Given the description of an element on the screen output the (x, y) to click on. 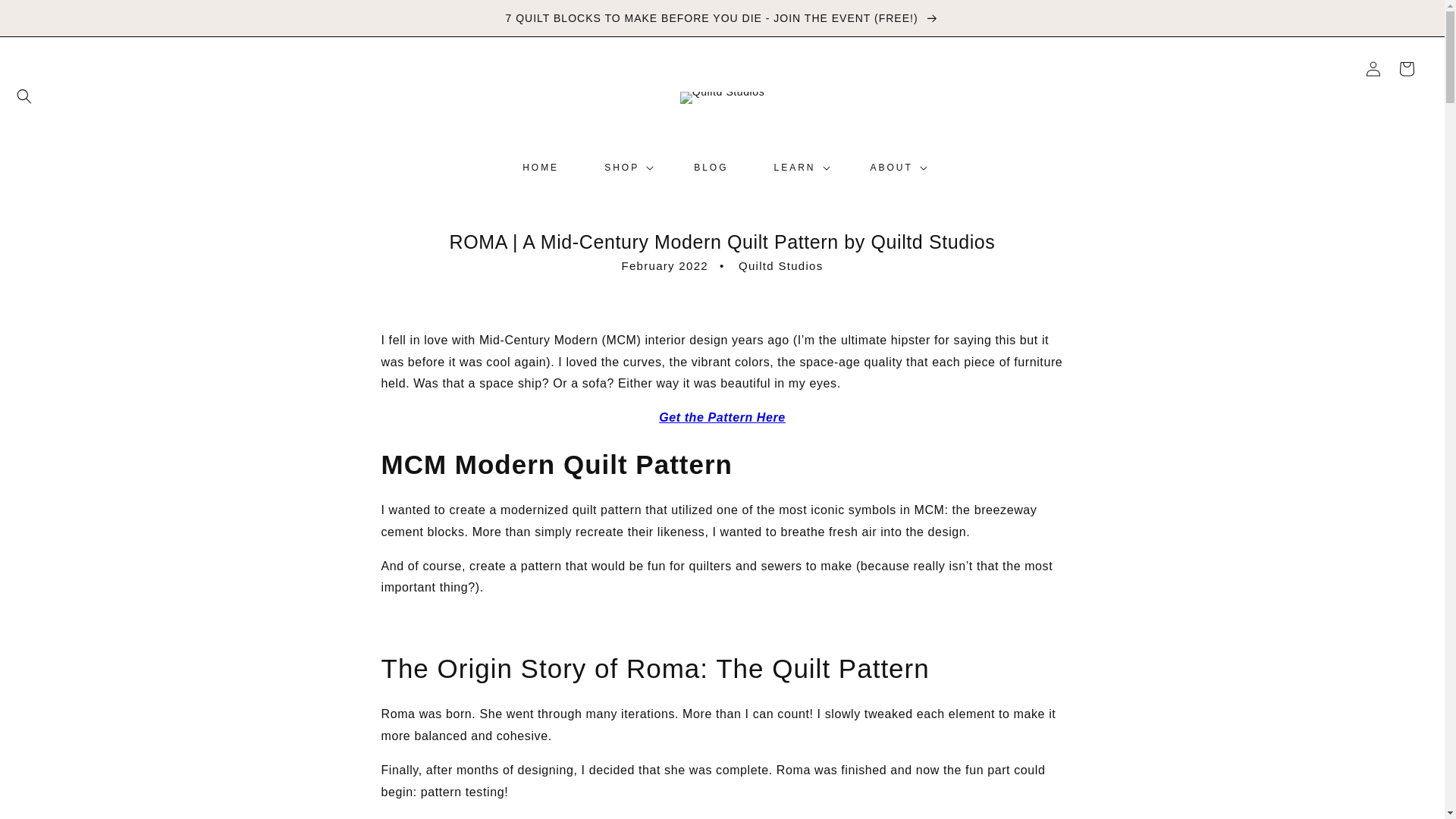
SKIP TO CONTENT (45, 16)
BLOG (711, 166)
HOME (539, 166)
PDF Download for Roma Quilt Pattern (722, 417)
